Given the description of an element on the screen output the (x, y) to click on. 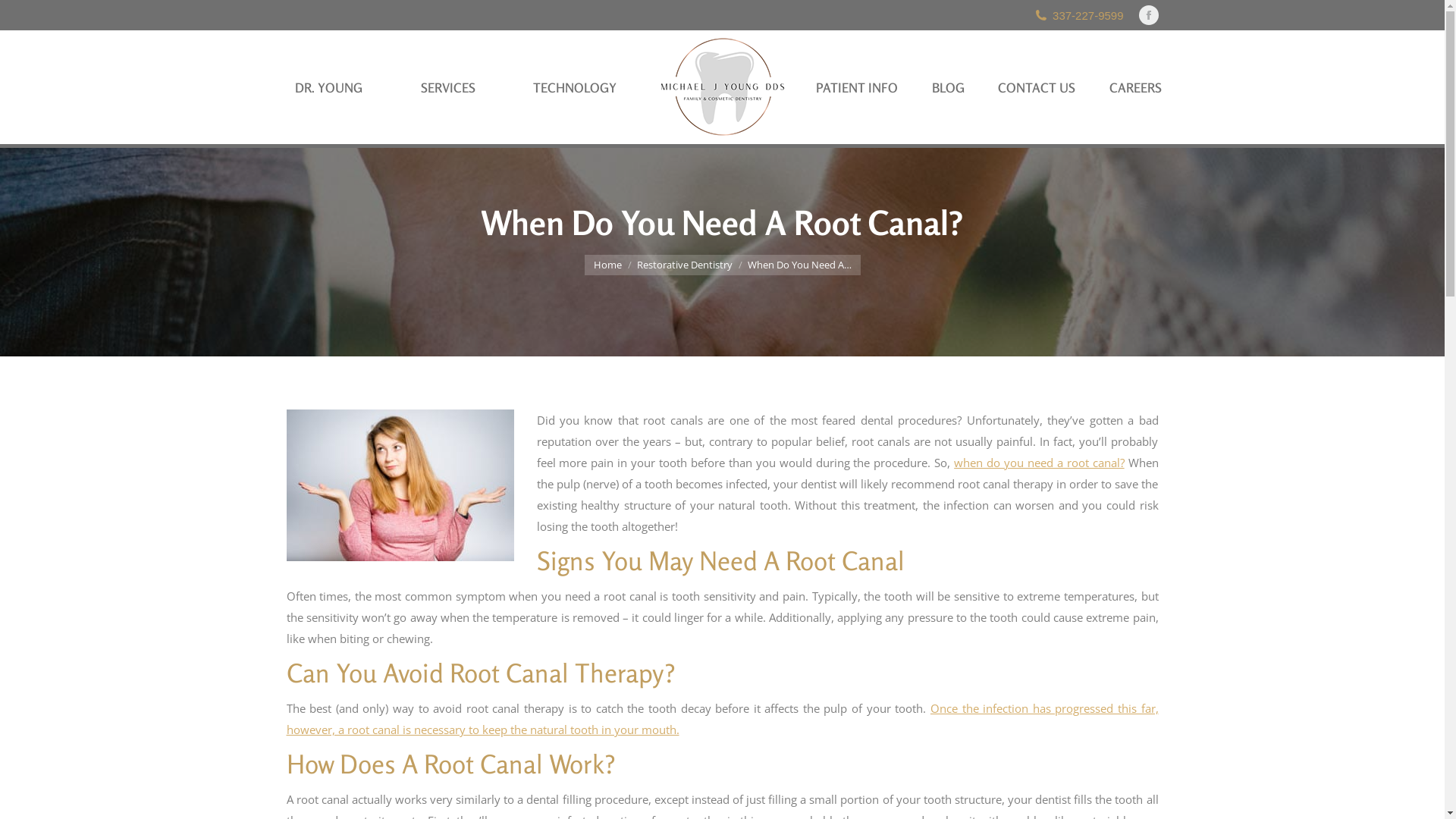
BLOG Element type: text (948, 87)
when do you need a root canal? Element type: text (1038, 462)
TECHNOLOGY Element type: text (574, 87)
CAREERS Element type: text (1135, 87)
PATIENT INFO Element type: text (856, 87)
Home Element type: text (607, 264)
DR. YOUNG Element type: text (328, 87)
Facebook page opens in new window Element type: text (1148, 15)
Restorative Dentistry Element type: text (684, 264)
SERVICES Element type: text (448, 87)
337-227-9599 Element type: text (1078, 15)
CONTACT US Element type: text (1036, 87)
